Given the description of an element on the screen output the (x, y) to click on. 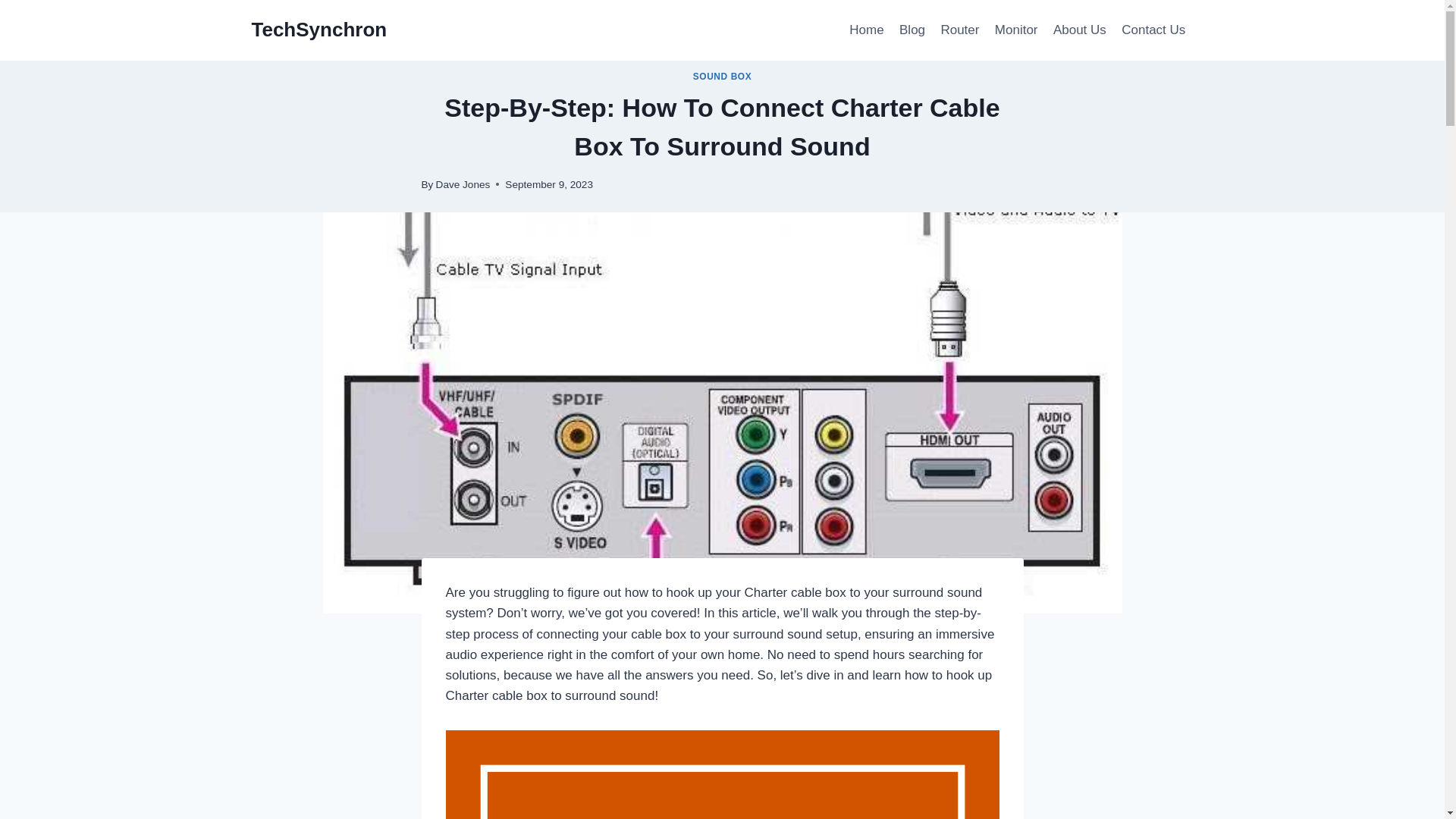
About Us (1079, 30)
SOUND BOX (722, 76)
Blog (912, 30)
Contact Us (1152, 30)
Dave Jones (462, 184)
Router (960, 30)
Monitor (1016, 30)
TechSynchron (319, 29)
Home (866, 30)
